Given the description of an element on the screen output the (x, y) to click on. 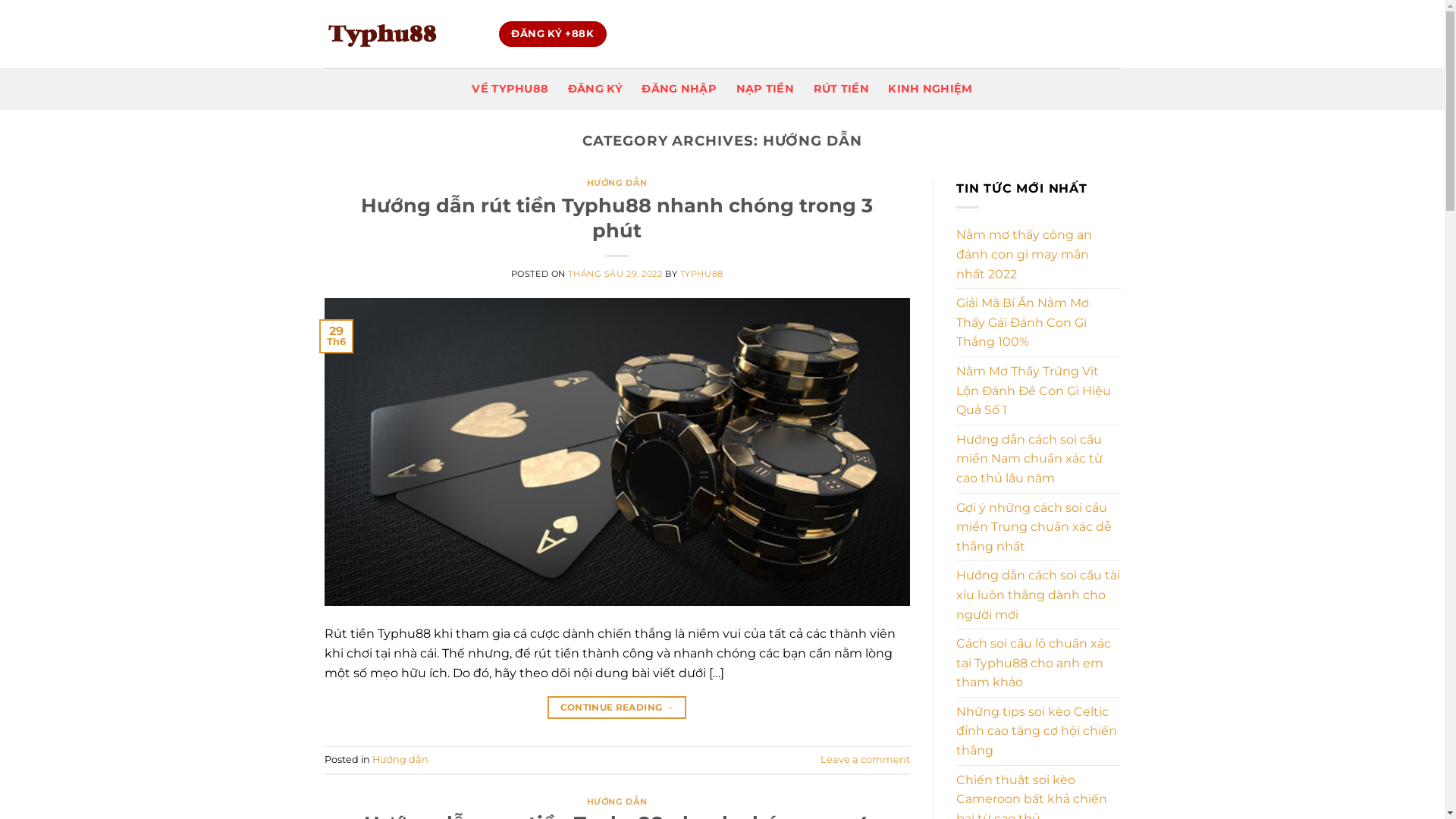
Leave a comment Element type: text (865, 759)
TYPHU88 Element type: text (701, 273)
